Given the description of an element on the screen output the (x, y) to click on. 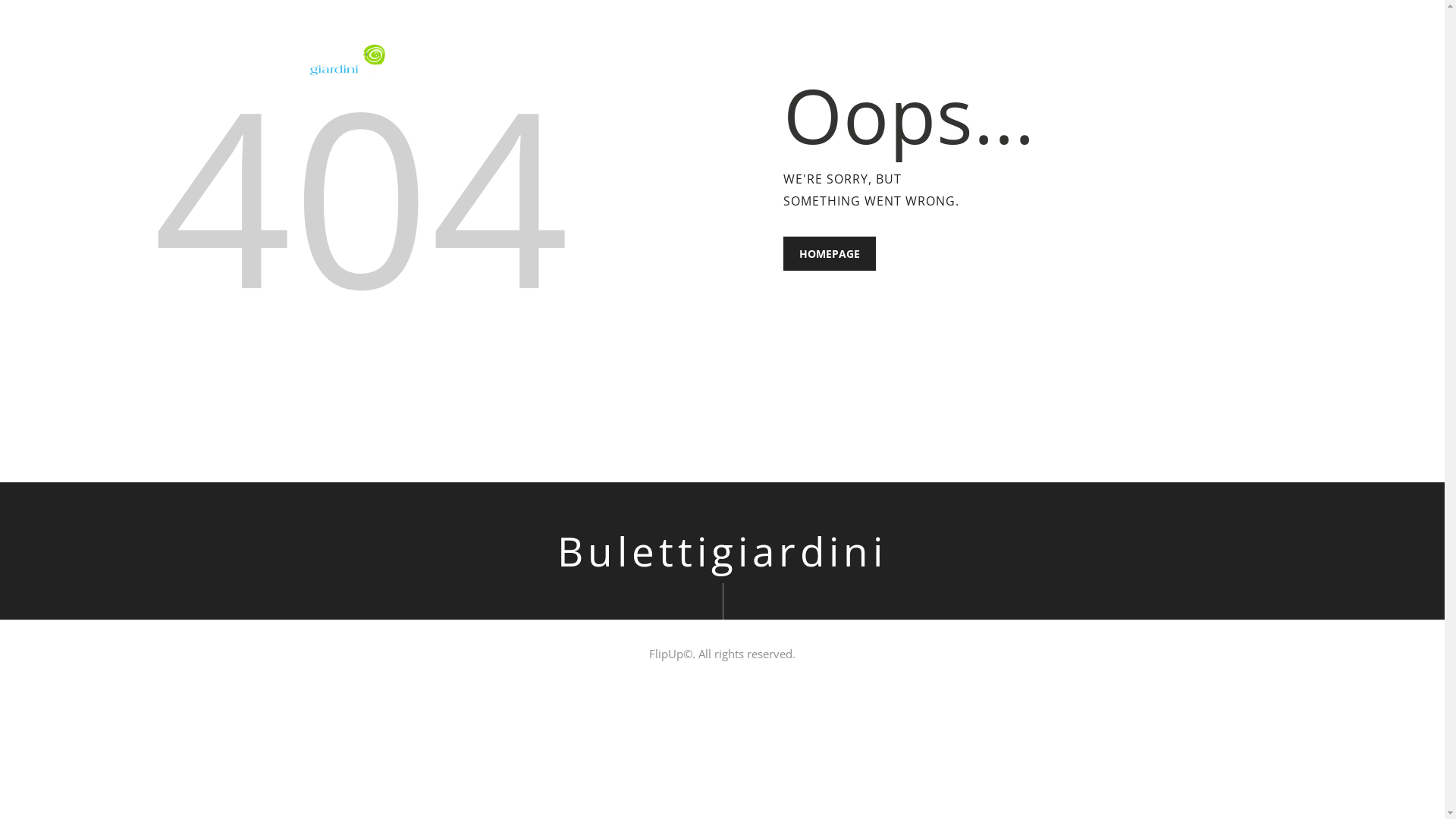
HOME Element type: text (873, 59)
Bulettigiardini Element type: text (722, 550)
SERVIZI Element type: text (1033, 59)
CHI SIAMO Element type: text (949, 59)
HOMEPAGE Element type: text (828, 253)
CONTATTI Element type: text (1118, 59)
